Given the description of an element on the screen output the (x, y) to click on. 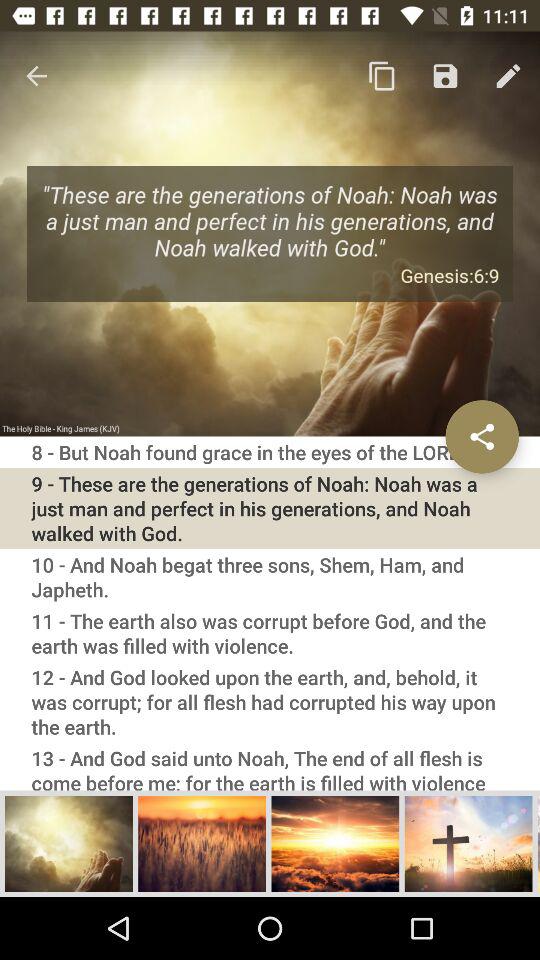
open item on the right (482, 436)
